Given the description of an element on the screen output the (x, y) to click on. 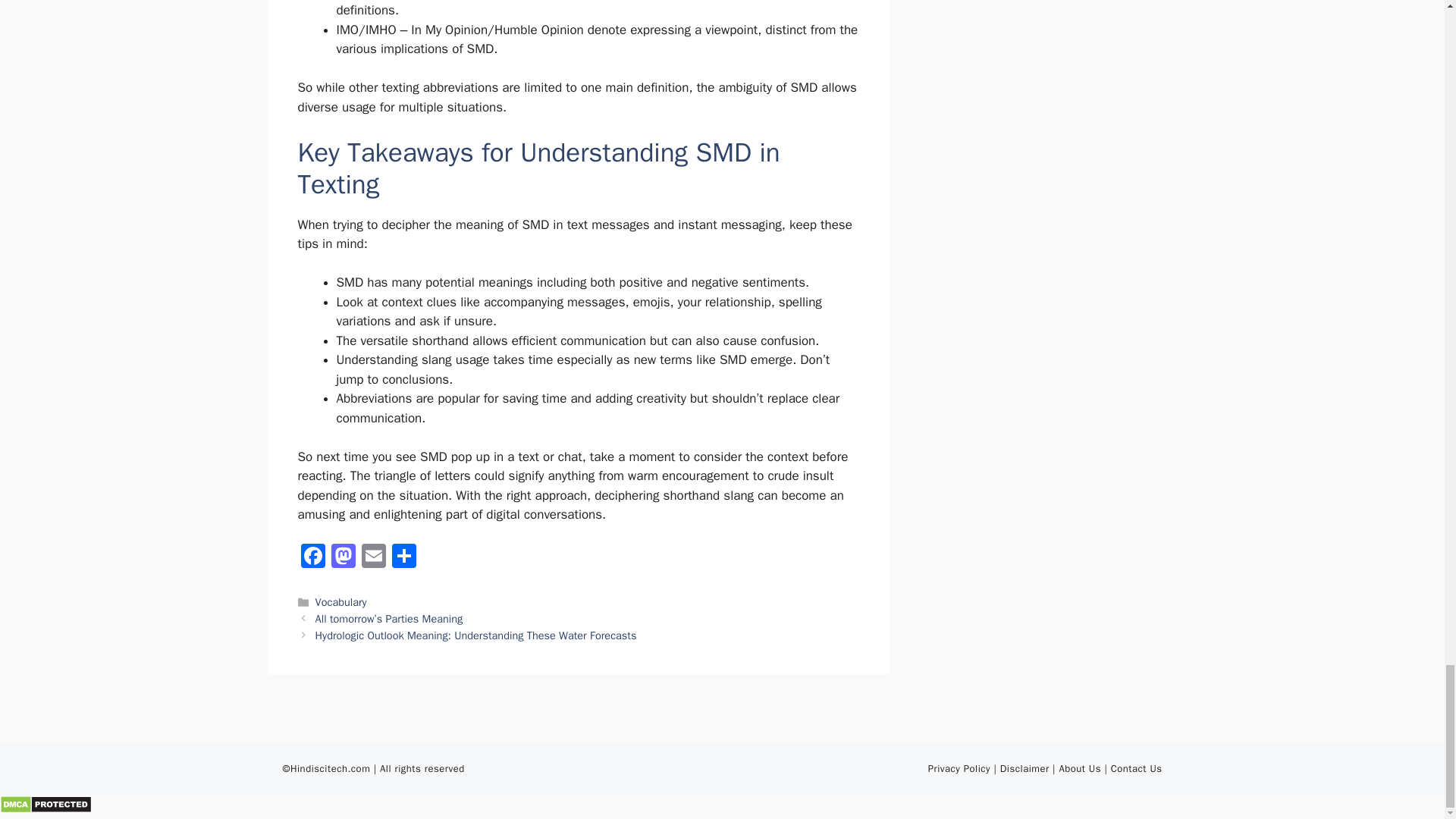
Email (373, 557)
Facebook (312, 557)
Vocabulary (340, 602)
Facebook (312, 557)
Email (373, 557)
Mastodon (342, 557)
Mastodon (342, 557)
